Given the description of an element on the screen output the (x, y) to click on. 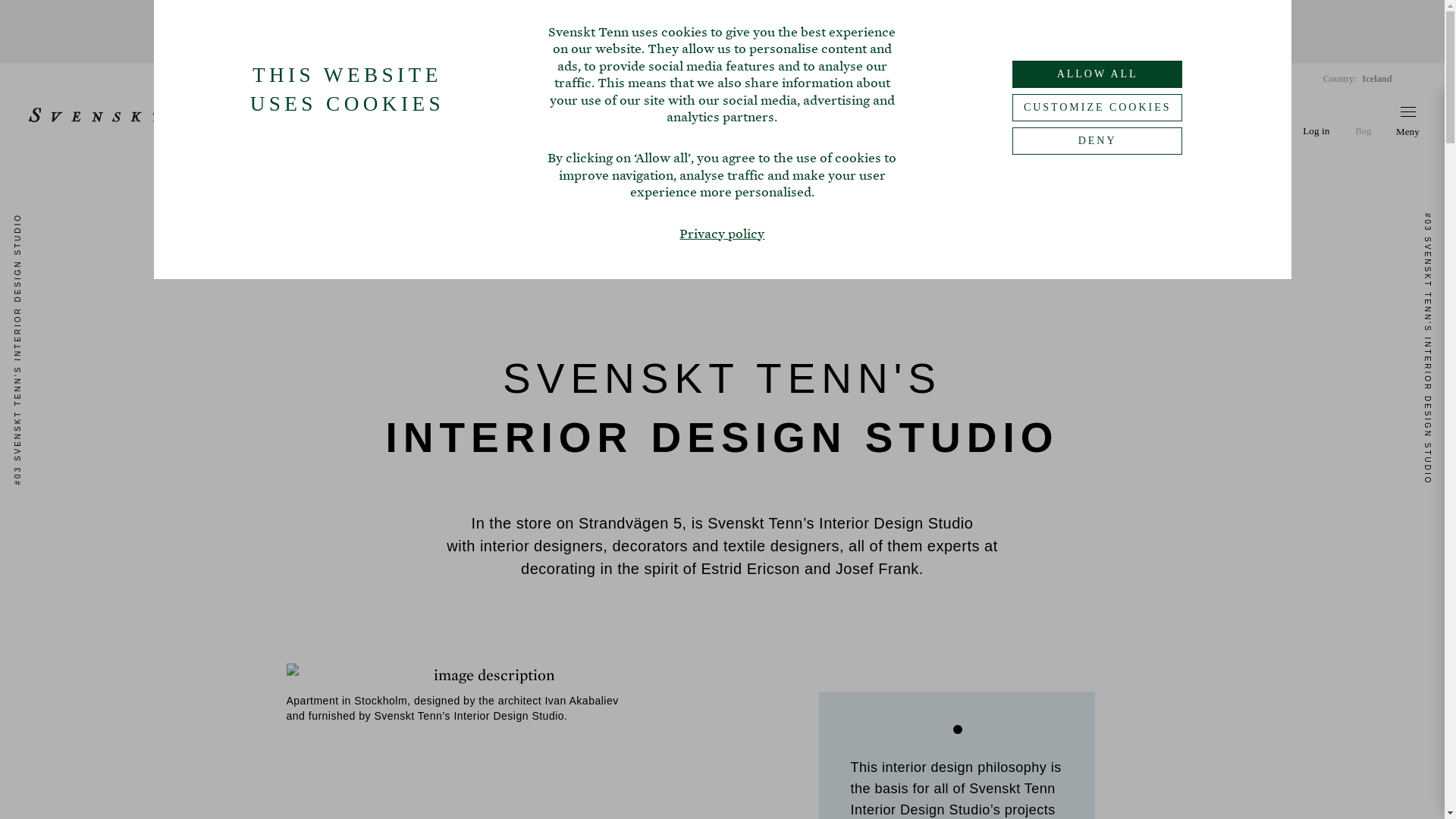
Privacy policy (721, 233)
